Given the description of an element on the screen output the (x, y) to click on. 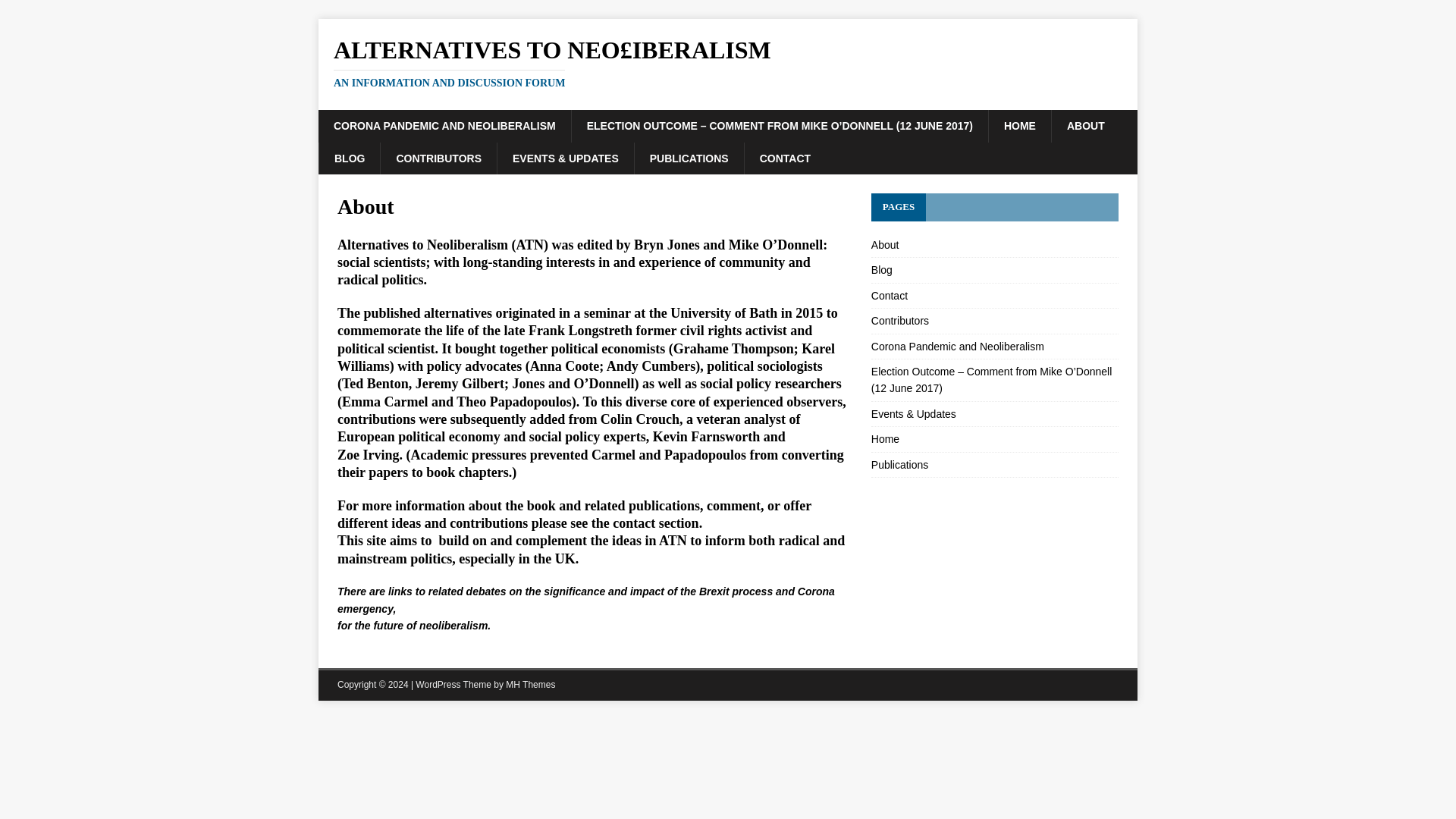
Publications (994, 464)
CONTACT (784, 158)
Contributors (994, 320)
Corona Pandemic and Neoliberalism (994, 346)
Home (994, 439)
CORONA PANDEMIC AND NEOLIBERALISM (444, 125)
ABOUT (1085, 125)
CONTRIBUTORS (438, 158)
BLOG (349, 158)
PUBLICATIONS (688, 158)
About (994, 246)
HOME (1019, 125)
Contact (994, 295)
Blog (994, 269)
